Given the description of an element on the screen output the (x, y) to click on. 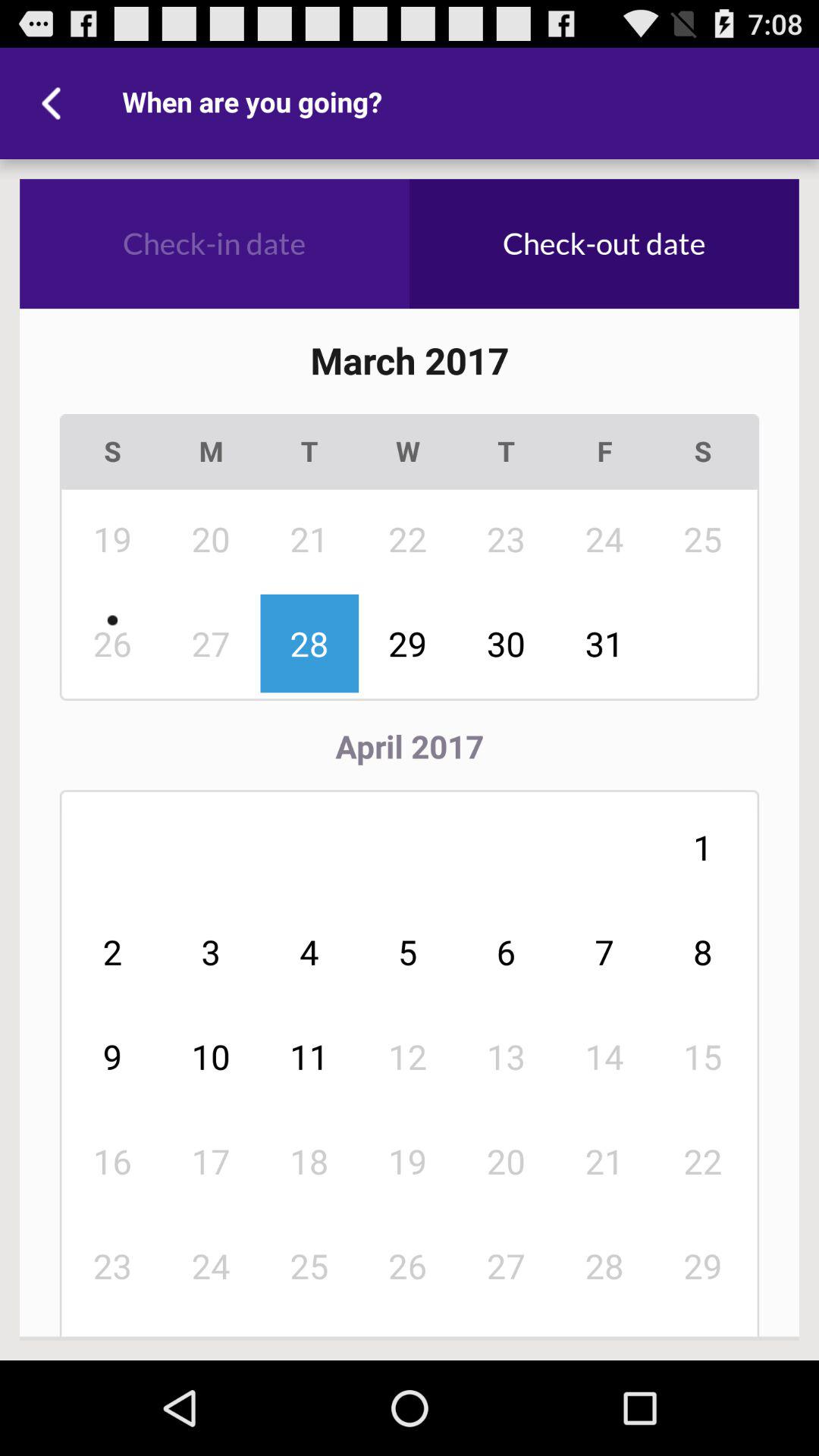
scroll until 15 icon (703, 1056)
